Given the description of an element on the screen output the (x, y) to click on. 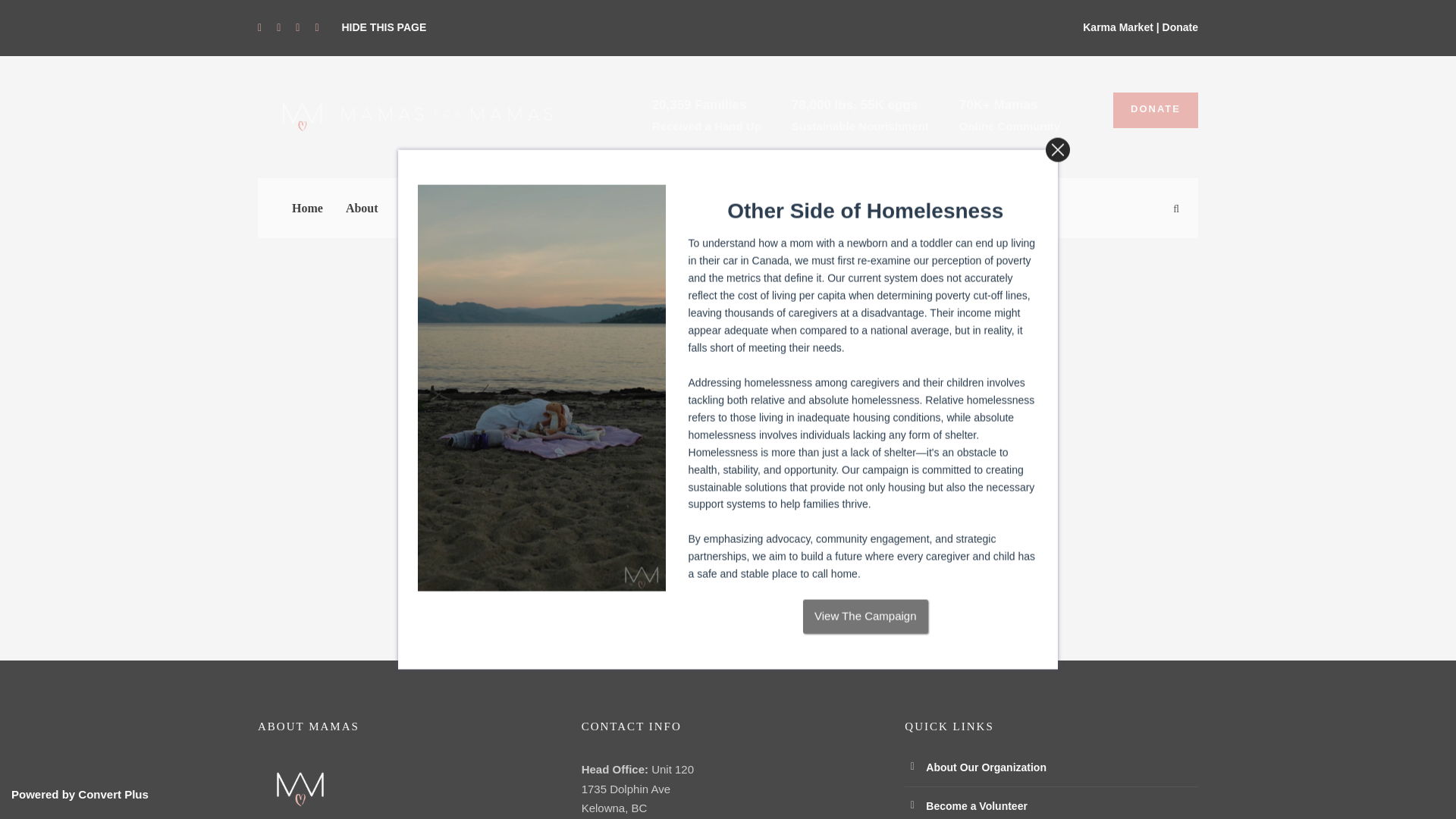
DONATE (1155, 109)
Join Mamas (532, 218)
Mamas Logo-White-03 (408, 114)
Donate (1179, 27)
Client Support (440, 218)
Ways to Give (621, 218)
Karma Market (1118, 27)
HIDE THIS PAGE (383, 27)
